Given the description of an element on the screen output the (x, y) to click on. 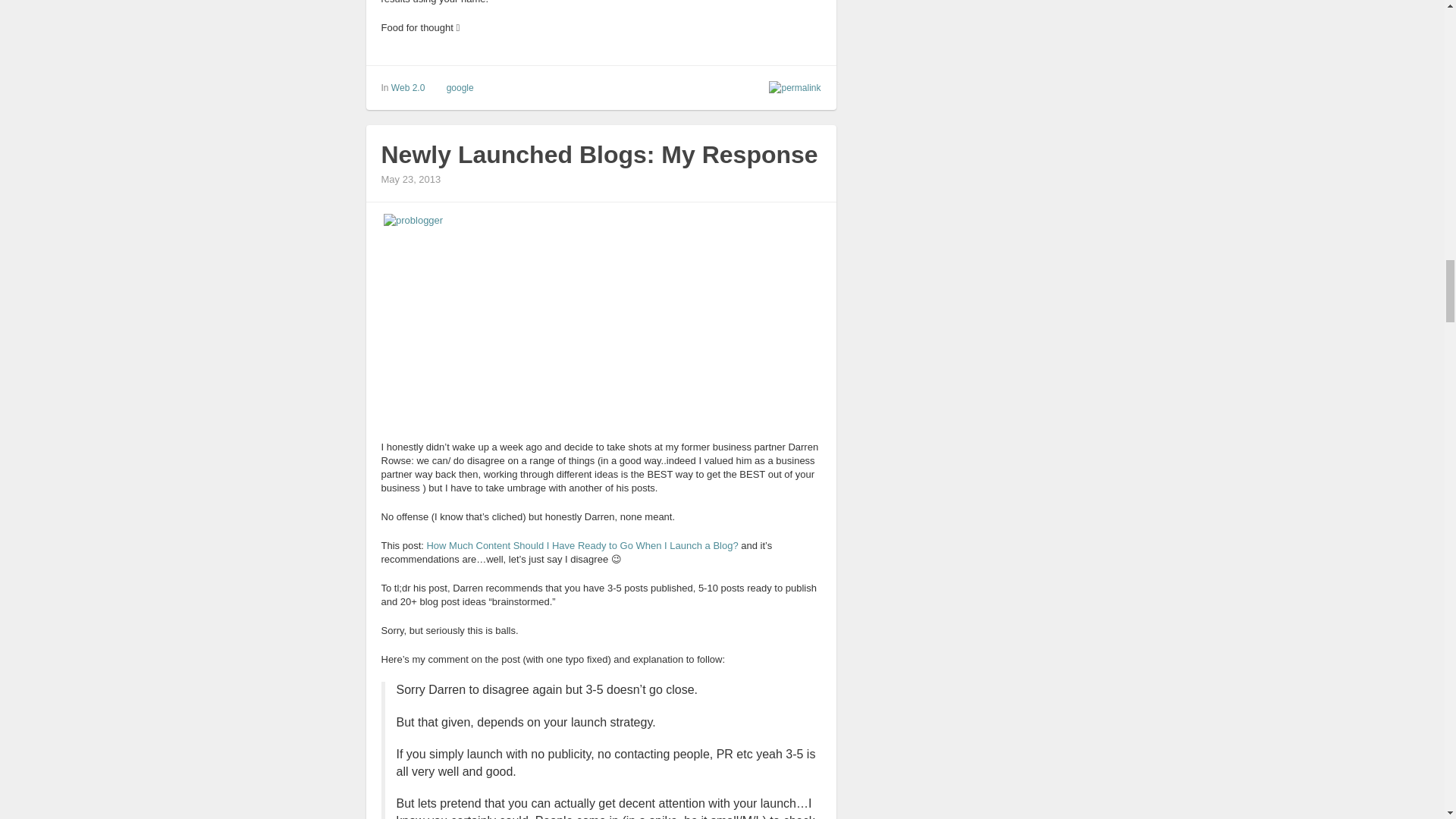
permalink  (791, 87)
Newly Launched Blogs: My Response (598, 154)
Newly Launched Blogs: My Response (598, 154)
google (460, 87)
Web 2.0 (408, 87)
